Given the description of an element on the screen output the (x, y) to click on. 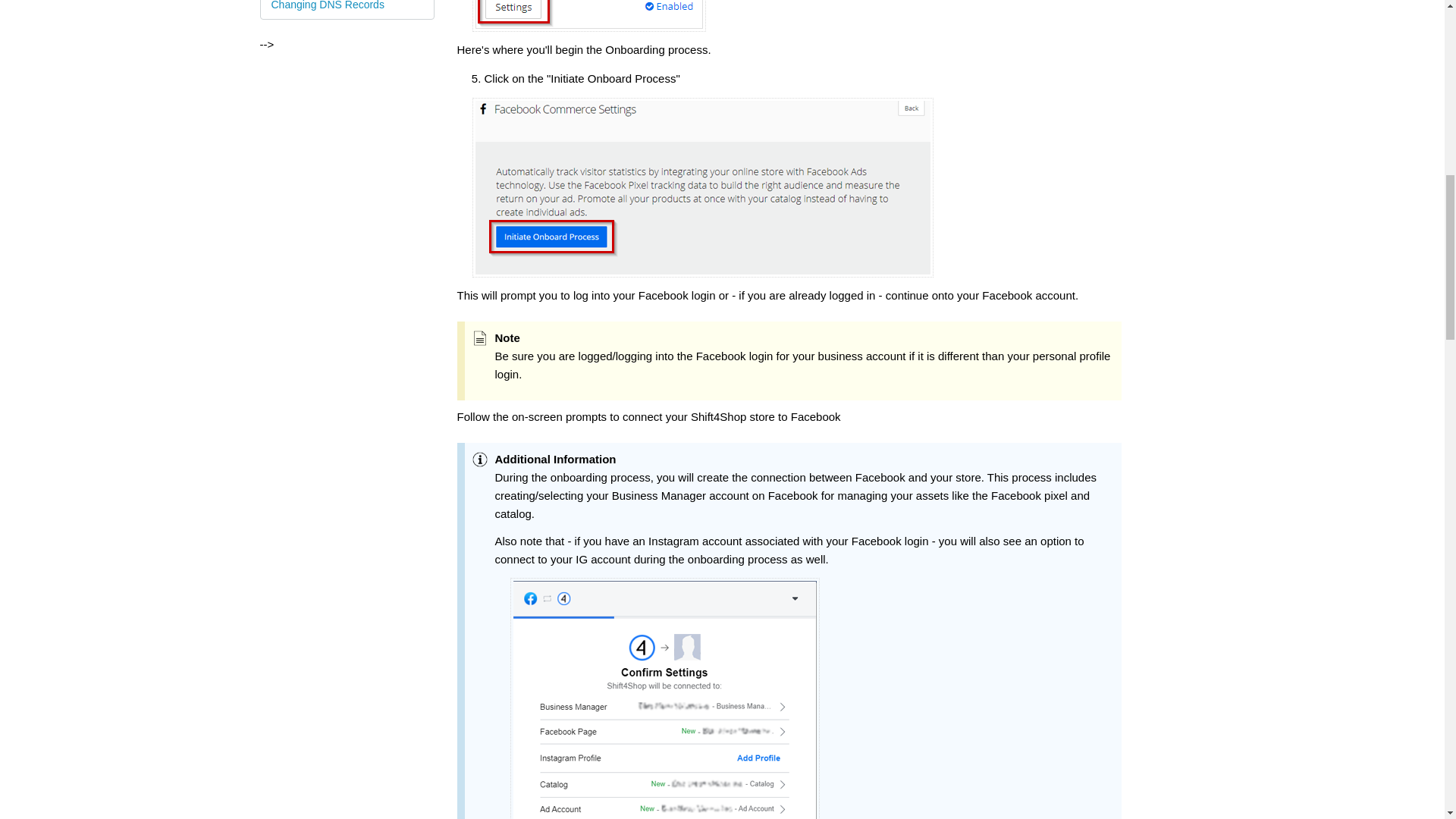
Changing DNS Records (346, 9)
